Given the description of an element on the screen output the (x, y) to click on. 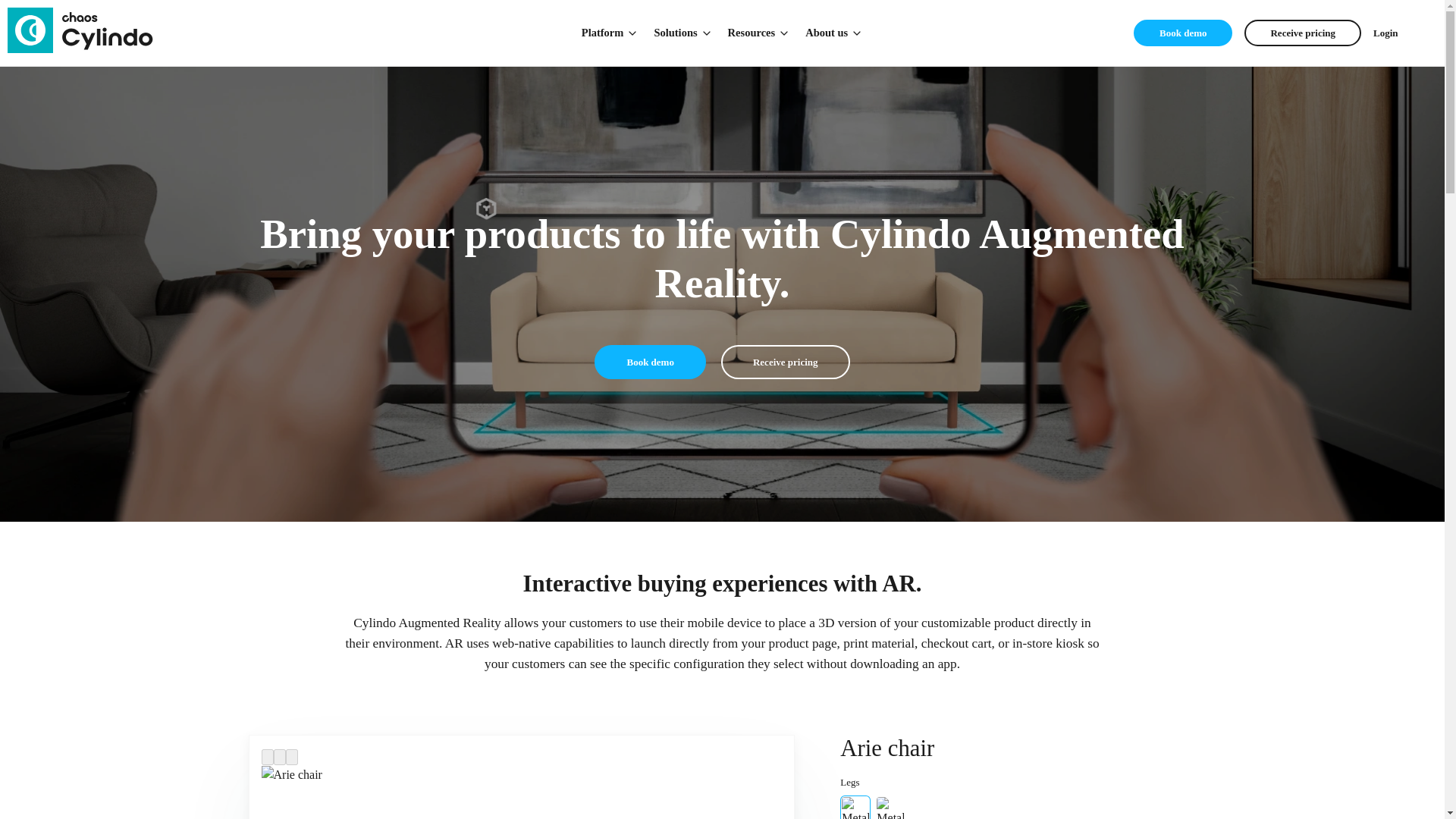
Receive pricing (785, 362)
Login (1385, 33)
Solutions (682, 33)
Book demo (649, 362)
Platform (609, 33)
About us (833, 33)
Receive pricing (1302, 32)
Book demo (1182, 32)
Resources (758, 33)
